Given the description of an element on the screen output the (x, y) to click on. 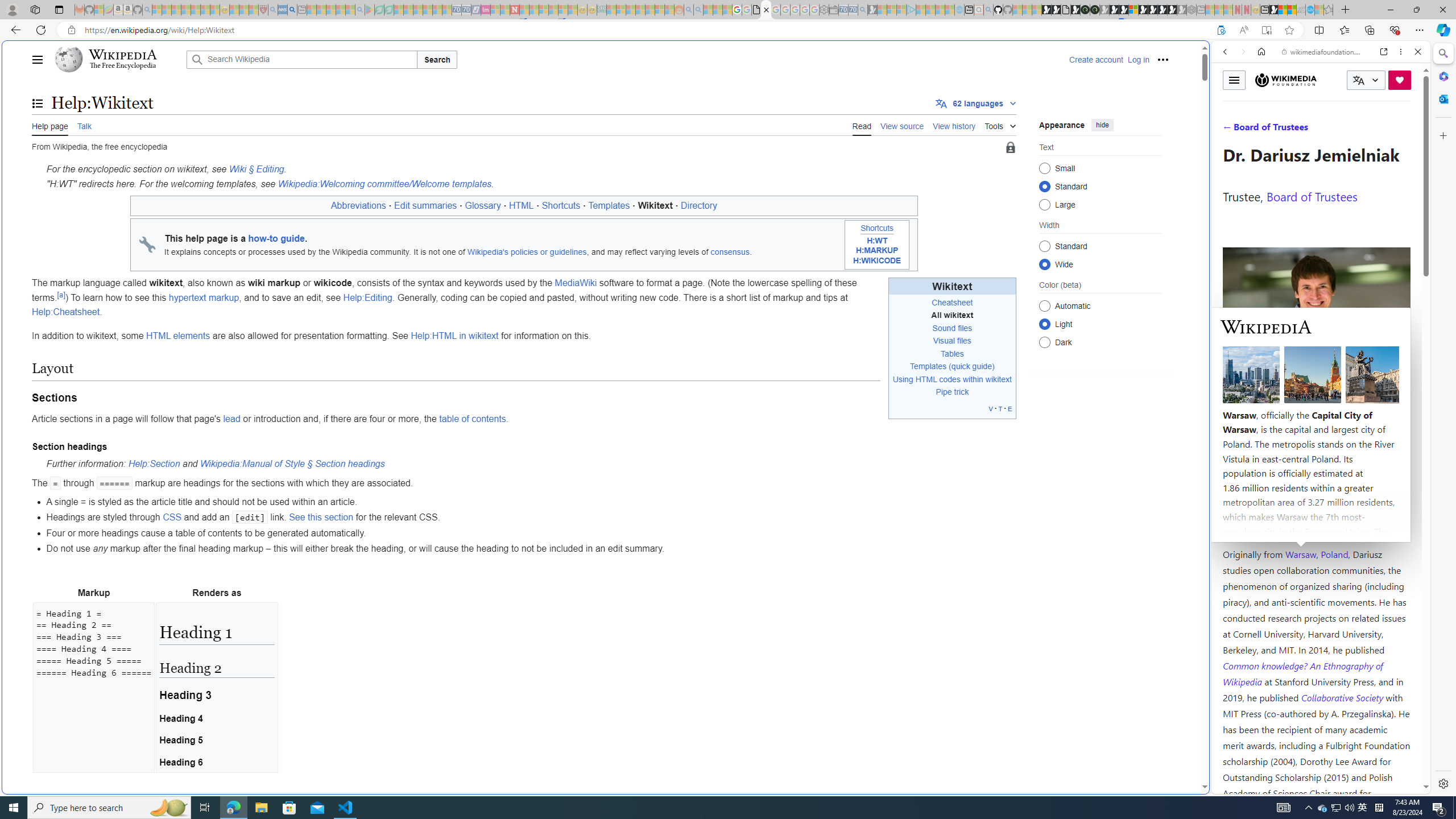
Wikimedia Foundation (1286, 79)
Standard (1044, 245)
Cheap Car Rentals - Save70.com - Sleeping (853, 9)
MediaWiki (575, 283)
Sound files (951, 327)
MSN (1118, 536)
